Given the description of an element on the screen output the (x, y) to click on. 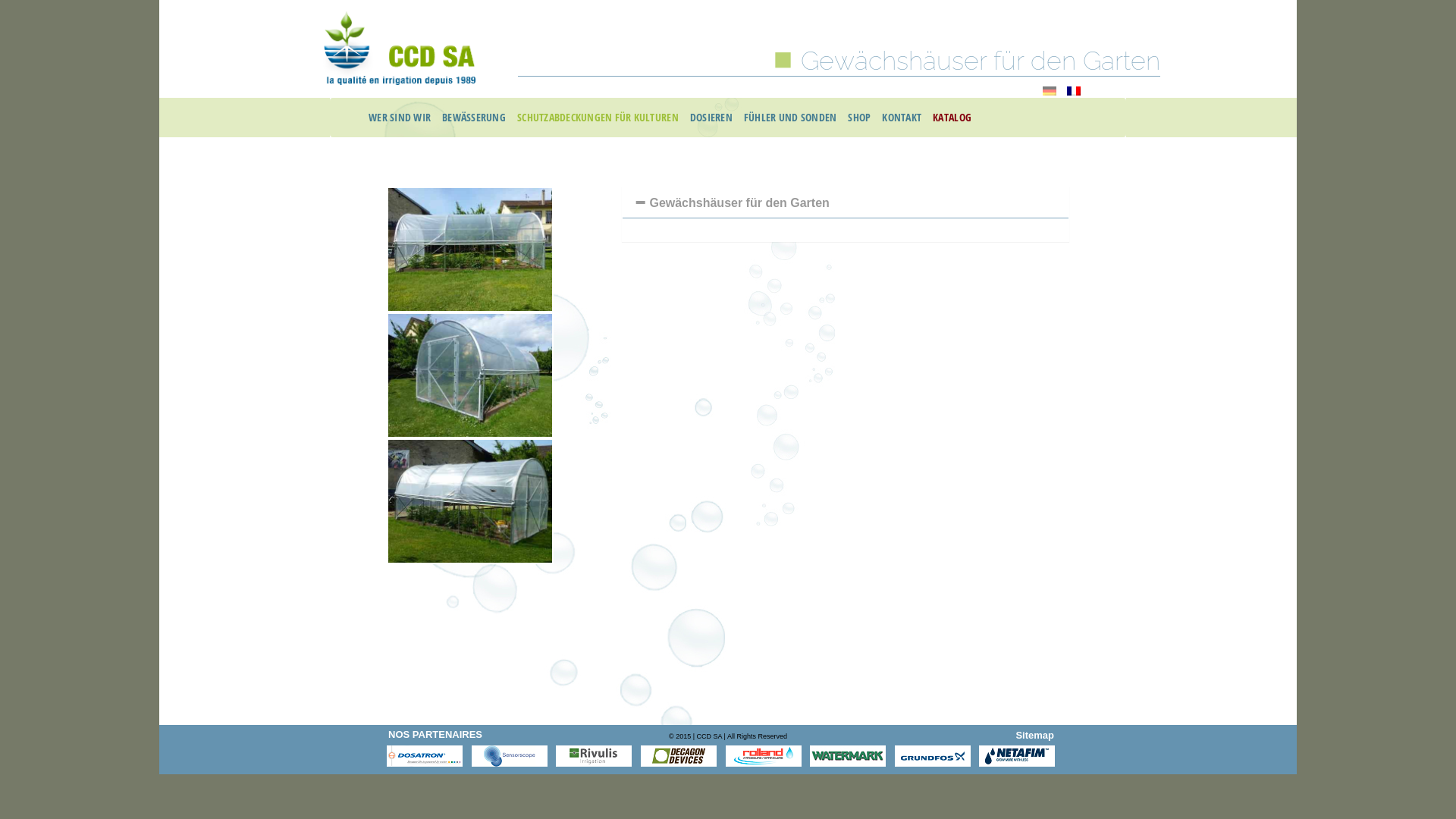
KONTAKT Element type: text (899, 117)
Sitemap Element type: text (1034, 734)
WER SIND WIR Element type: text (397, 117)
KATALOG Element type: text (950, 117)
SHOP Element type: text (857, 117)
DOSIEREN Element type: text (709, 117)
